Given the description of an element on the screen output the (x, y) to click on. 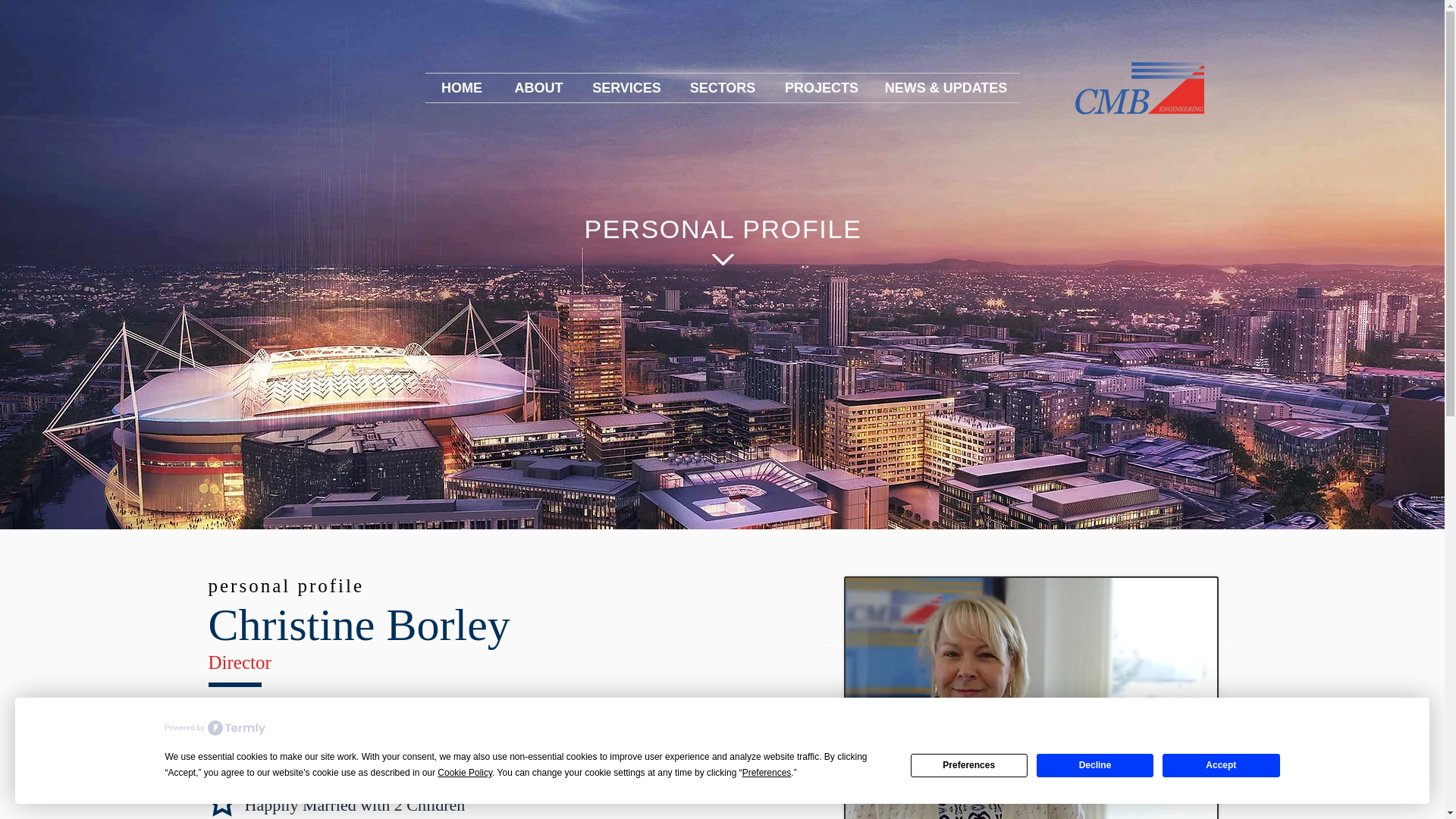
SECTORS (723, 87)
Decline (1094, 765)
Preferences (969, 765)
Accept (1220, 765)
ABOUT (539, 87)
PROJECTS (821, 87)
SERVICES (627, 87)
HOME (461, 87)
